Given the description of an element on the screen output the (x, y) to click on. 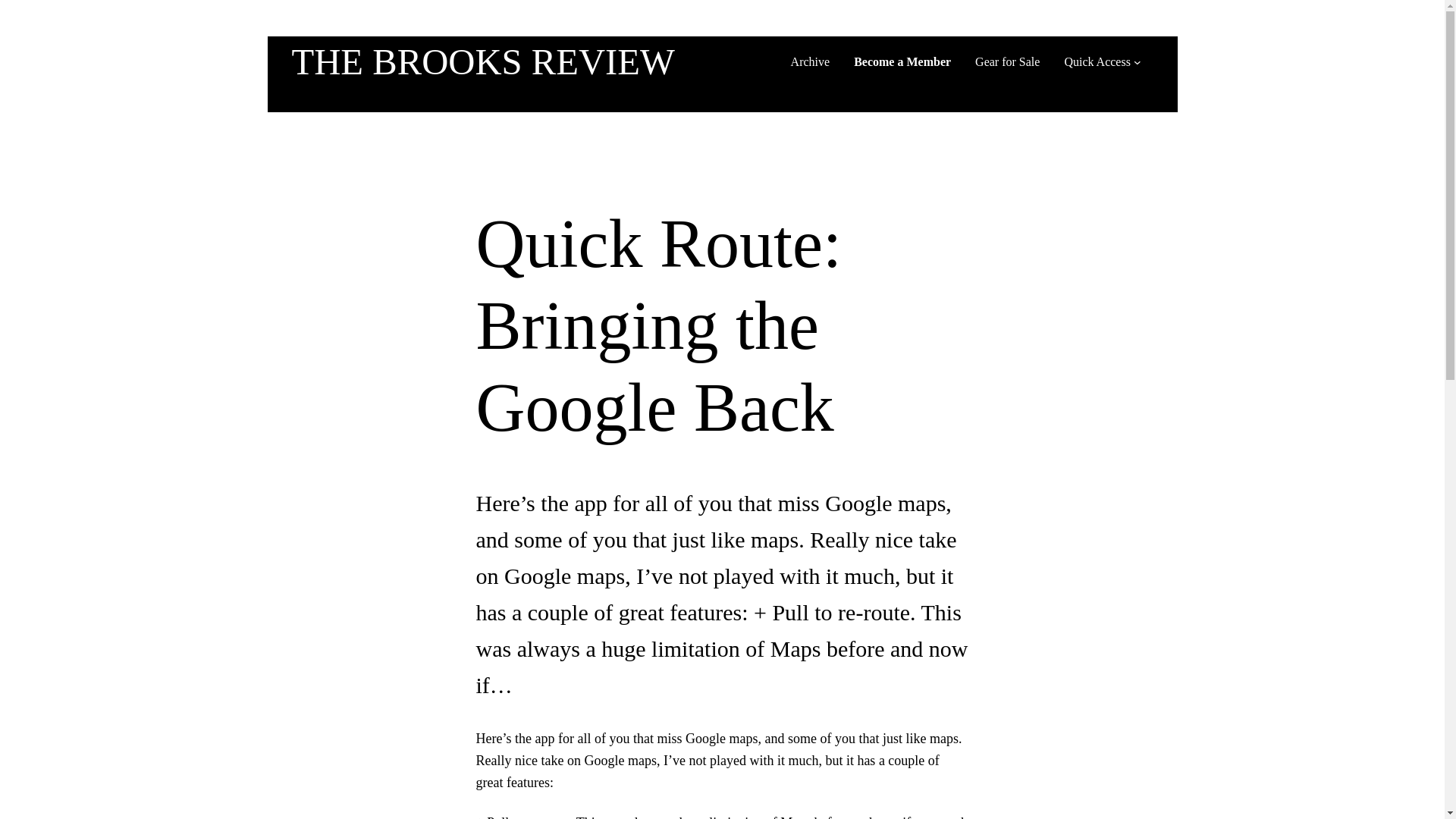
THE BROOKS REVIEW (482, 61)
Become a Member (901, 62)
Gear for Sale (1007, 62)
Archive (809, 62)
Quick Access (1097, 62)
